Given the description of an element on the screen output the (x, y) to click on. 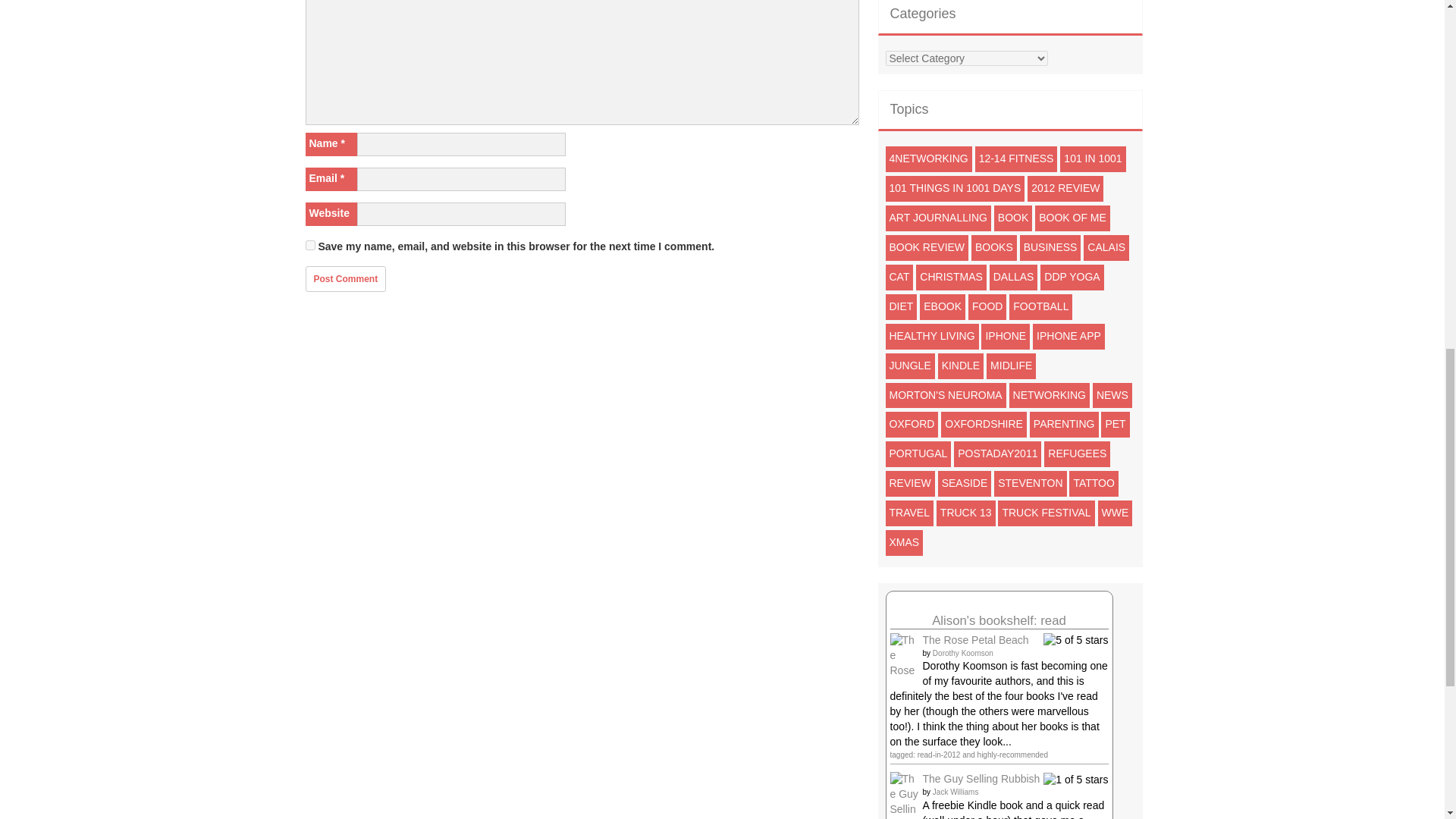
Post Comment (344, 278)
The Rose Petal Beach (904, 677)
yes (309, 245)
